Given the description of an element on the screen output the (x, y) to click on. 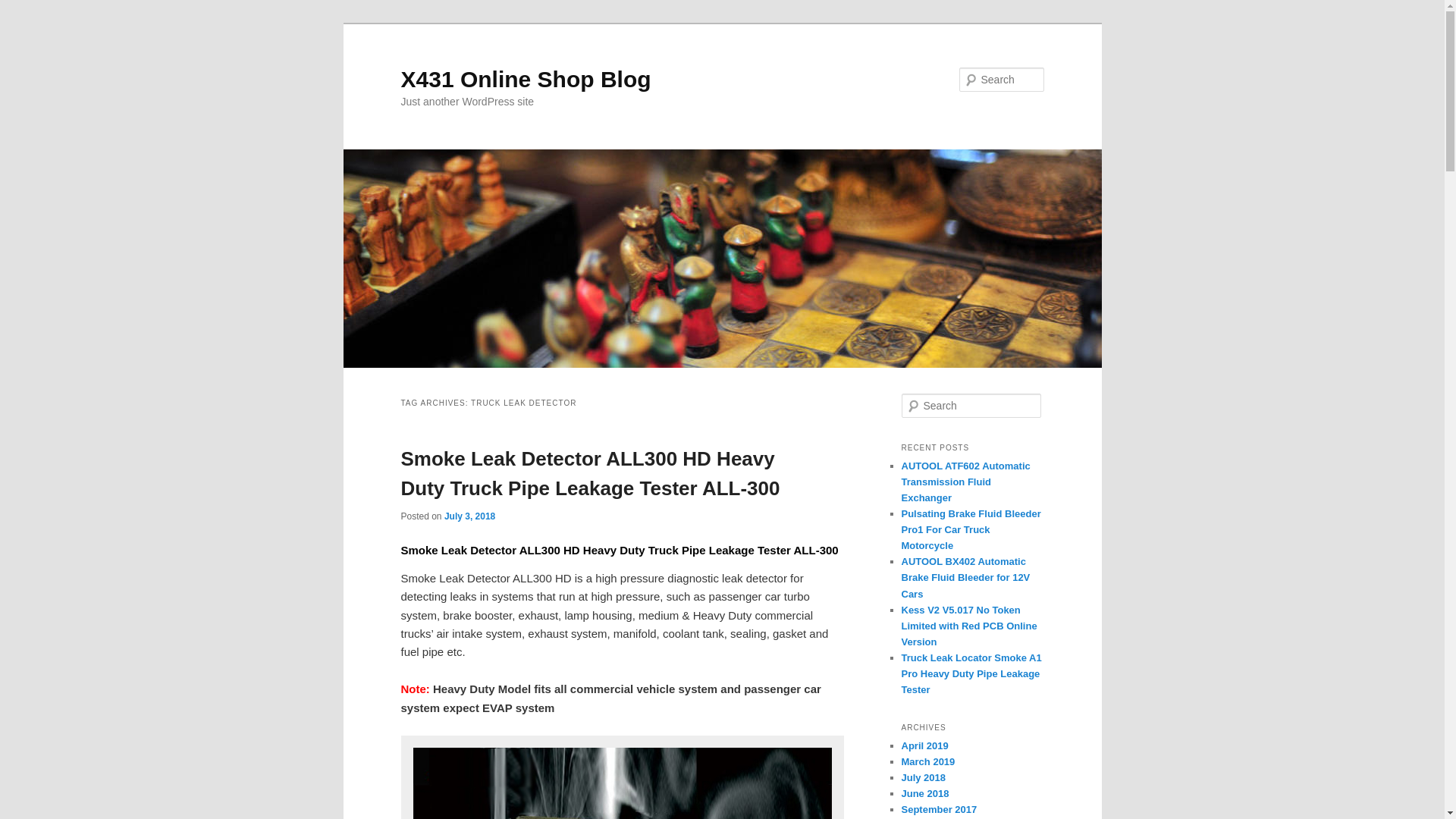
September 2017 (938, 808)
Search (21, 11)
5:22 pm (469, 516)
Search (24, 8)
Kess V2 V5.017 No Token Limited with Red PCB Online Version (968, 625)
X431 Online Shop Blog (525, 78)
July 2018 (922, 777)
April 2019 (924, 745)
AUTOOL BX402 Automatic Brake Fluid Bleeder for 12V Cars (965, 577)
AUTOOL ATF602 Automatic Transmission Fluid Exchanger (965, 481)
July 3, 2018 (469, 516)
Pulsating Brake Fluid Bleeder Pro1 For Car Truck Motorcycle (971, 529)
March 2019 (928, 761)
June 2018 (925, 793)
